Given the description of an element on the screen output the (x, y) to click on. 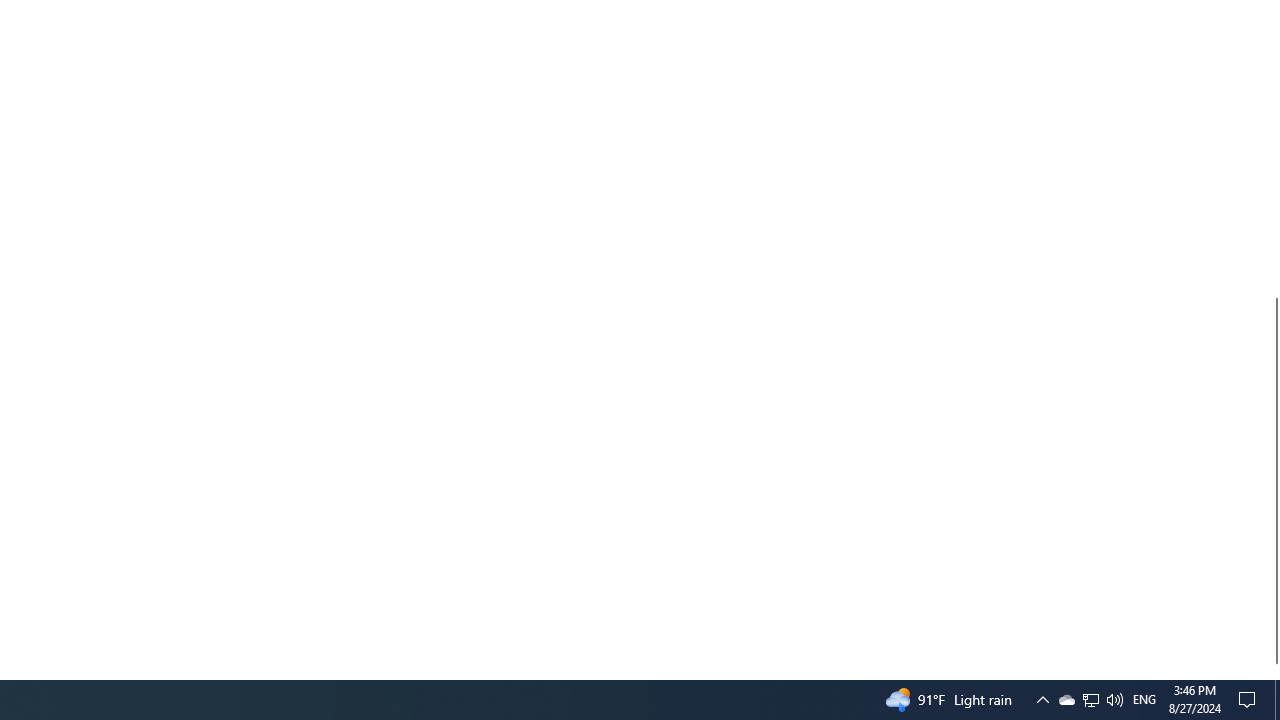
Vertical Small Increase (1272, 671)
User Promoted Notification Area (1090, 699)
Action Center, No new notifications (1091, 699)
Tray Input Indicator - English (United States) (1250, 699)
Show desktop (1144, 699)
Q2790: 100% (1066, 699)
Notification Chevron (1277, 699)
